Given the description of an element on the screen output the (x, y) to click on. 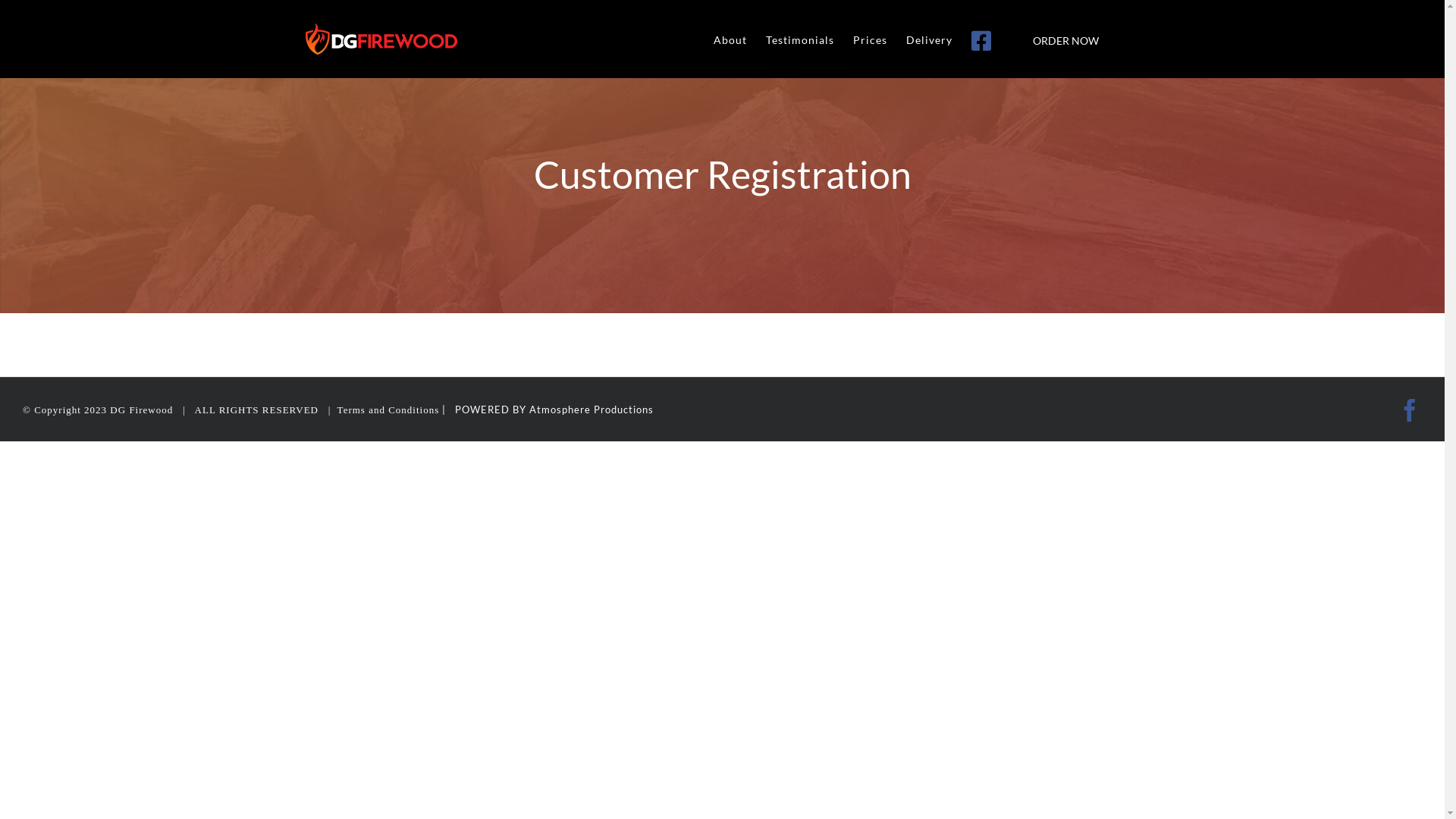
About Element type: text (729, 39)
Prices Element type: text (869, 39)
Delivery Element type: text (928, 39)
ORDER NOW Element type: text (1065, 39)
Testimonials Element type: text (799, 39)
Facebook Element type: text (1409, 409)
Atmosphere Productions Element type: text (591, 409)
Terms and Conditions Element type: text (388, 409)
